Given the description of an element on the screen output the (x, y) to click on. 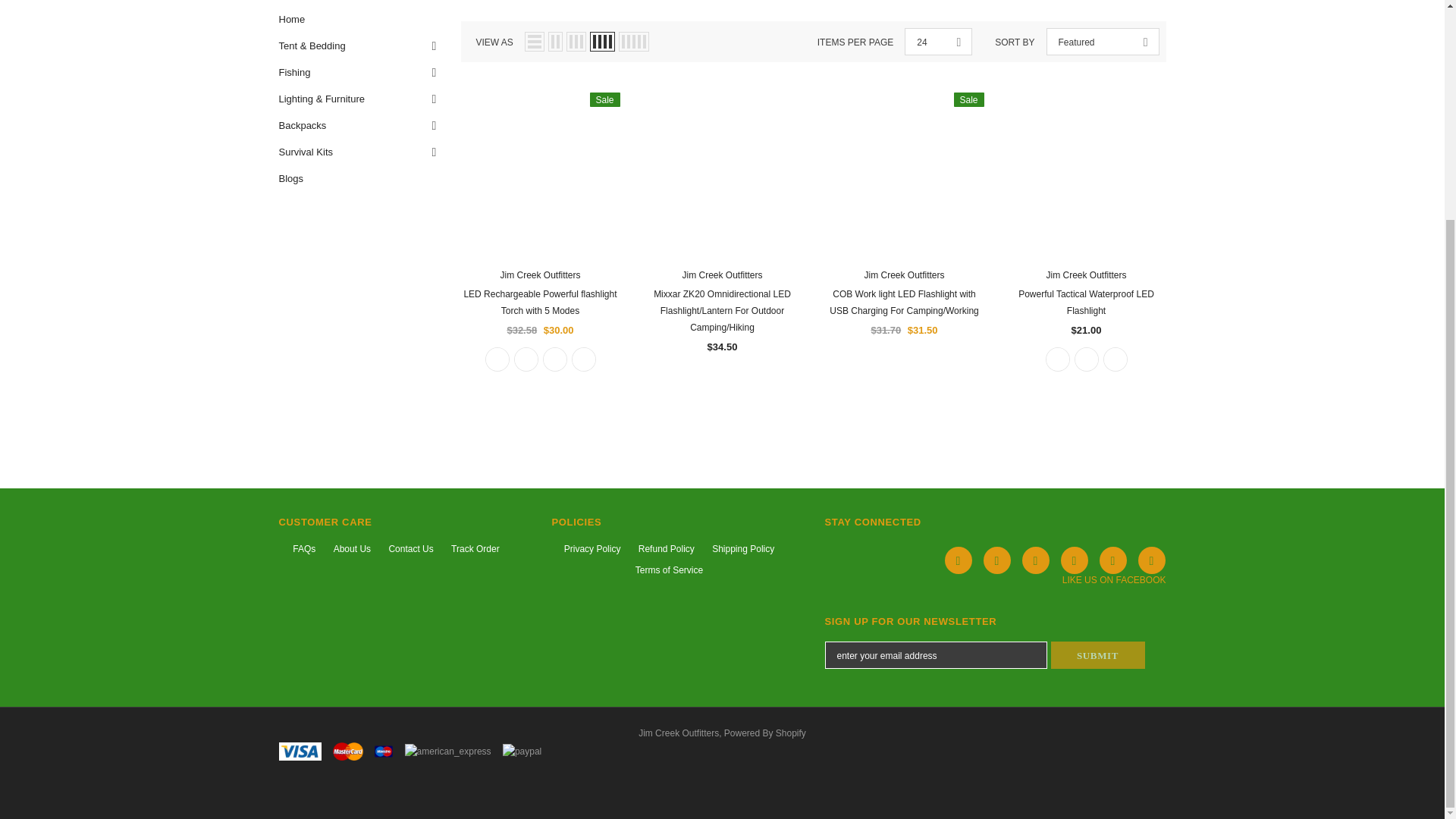
Submit (525, 359)
Jim Creek Outfitters (496, 359)
